Given the description of an element on the screen output the (x, y) to click on. 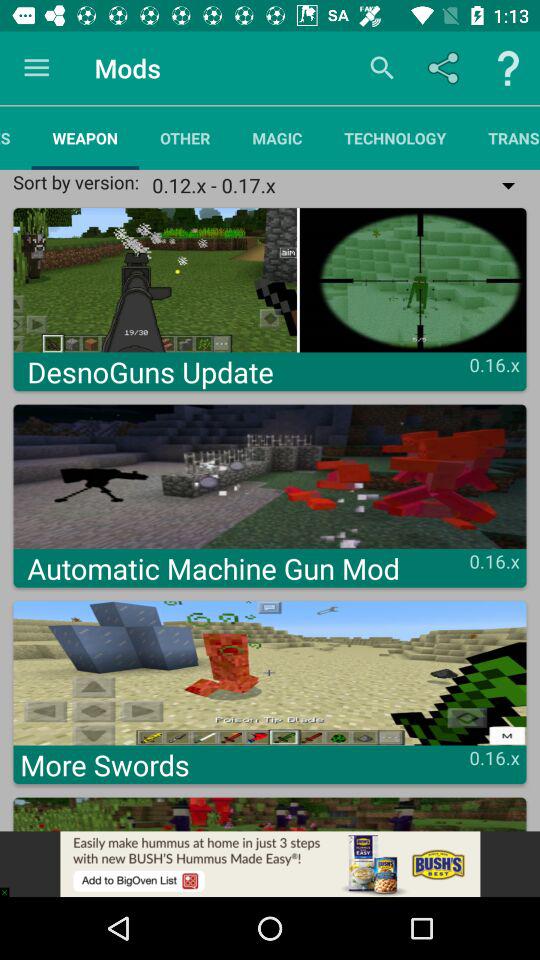
launch the icon next to the other item (277, 137)
